Given the description of an element on the screen output the (x, y) to click on. 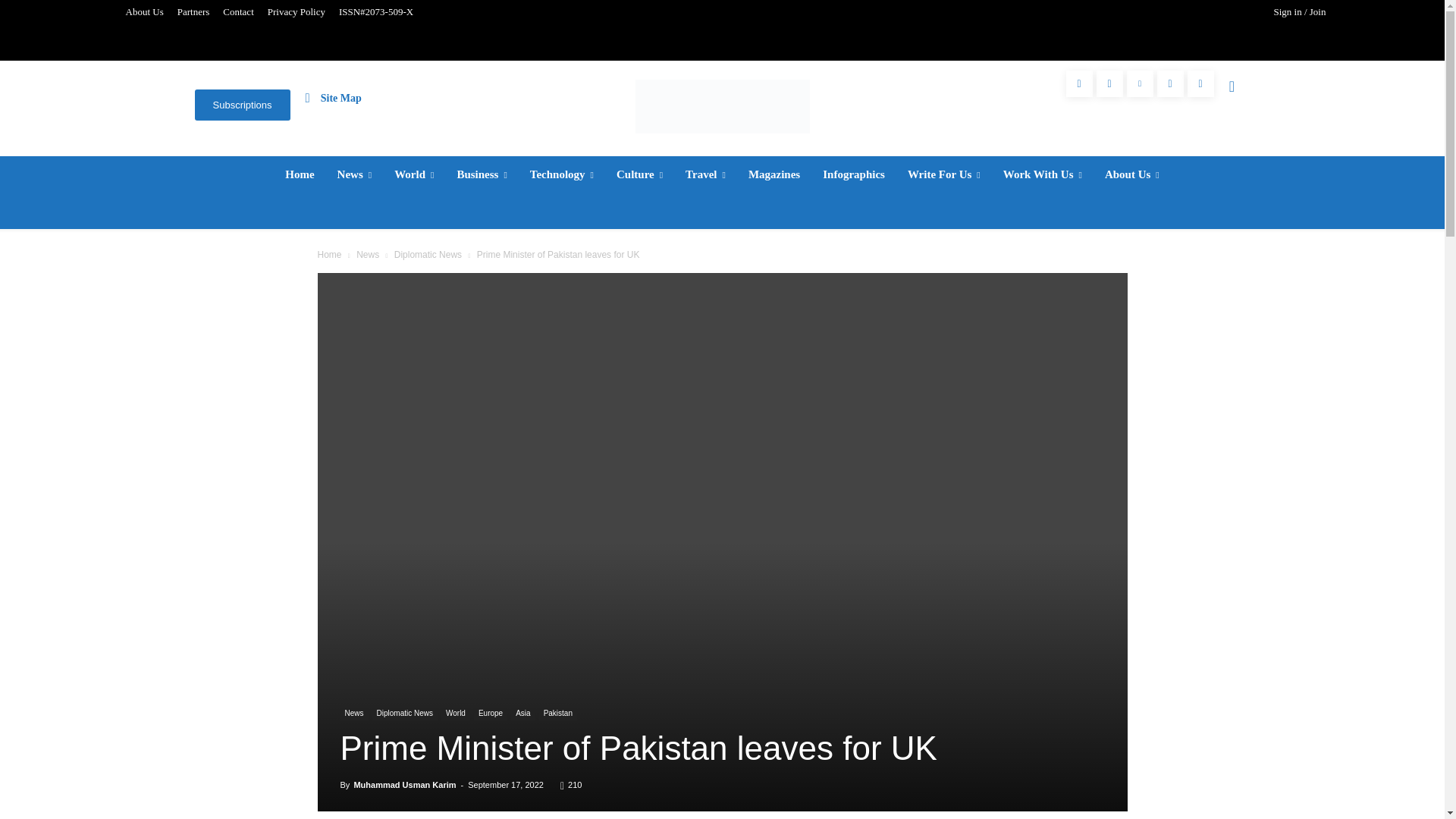
Site Map (333, 97)
Twitter (1170, 82)
Linkedin (1139, 82)
Subscriptions (241, 104)
Youtube (1201, 82)
View all posts in News (367, 254)
View all posts in Diplomatic News (427, 254)
Facebook (1079, 82)
Instagram (1109, 82)
